Given the description of an element on the screen output the (x, y) to click on. 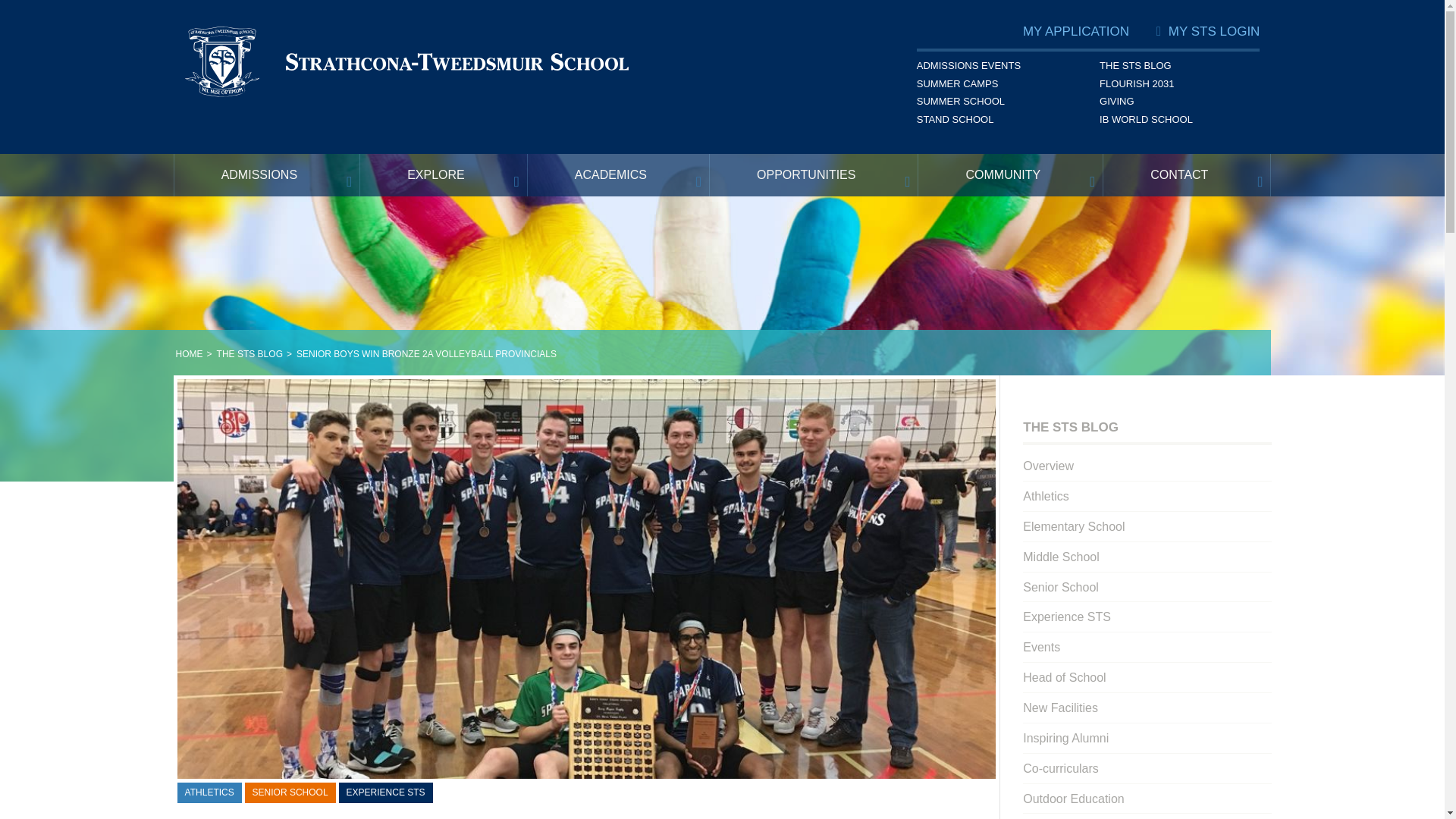
ADMISSIONS (267, 175)
STAND SCHOOL (997, 122)
MY APPLICATION (1076, 33)
FLOURISH 2031 (1179, 85)
MY STS LOGIN (1214, 33)
IB WORLD SCHOOL (1179, 122)
GIVING (1179, 104)
ADMISSIONS EVENTS (997, 67)
SUMMER CAMPS (997, 85)
THE STS BLOG (1179, 67)
